Given the description of an element on the screen output the (x, y) to click on. 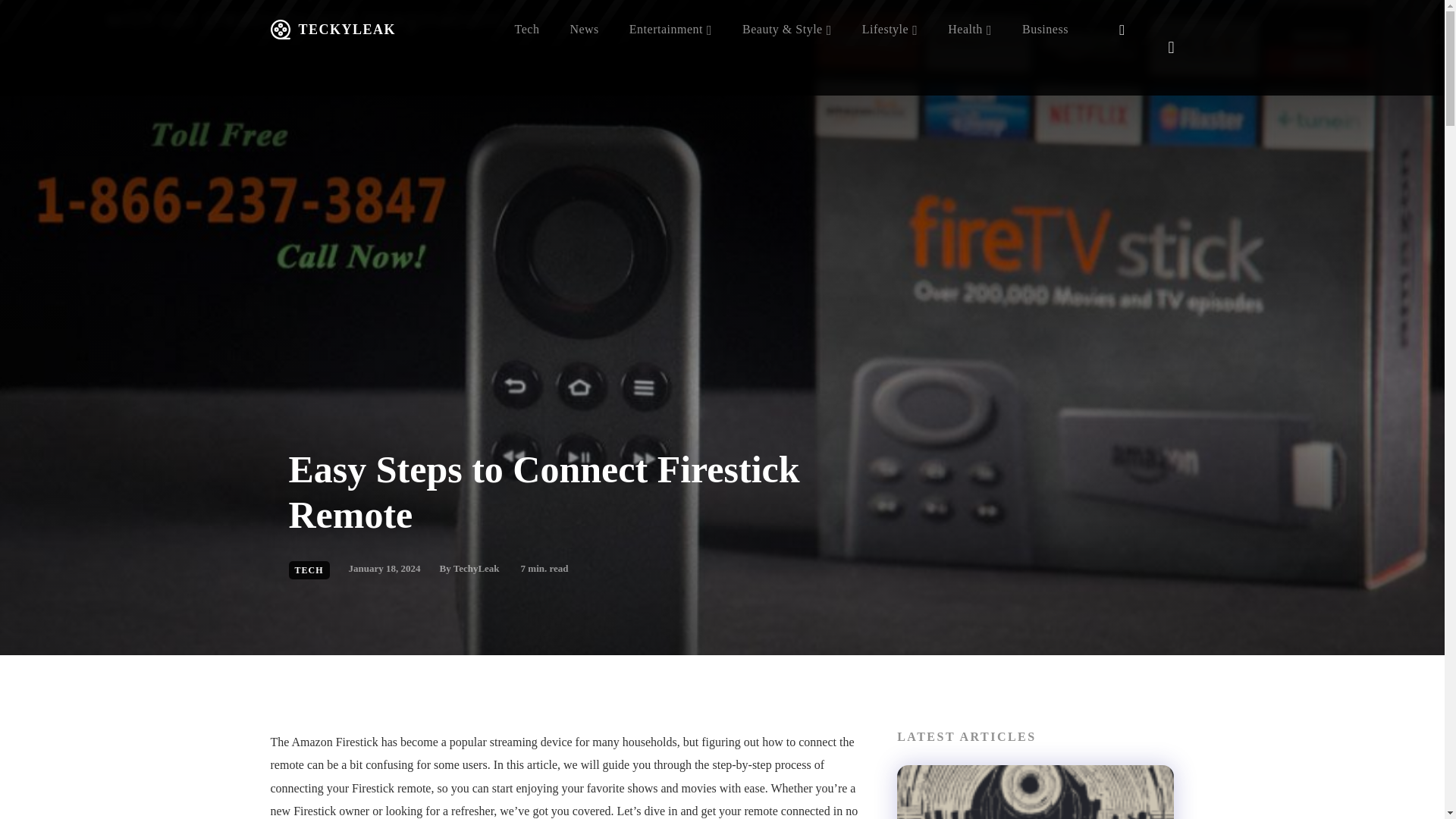
TECKYLEAK (332, 29)
